Given the description of an element on the screen output the (x, y) to click on. 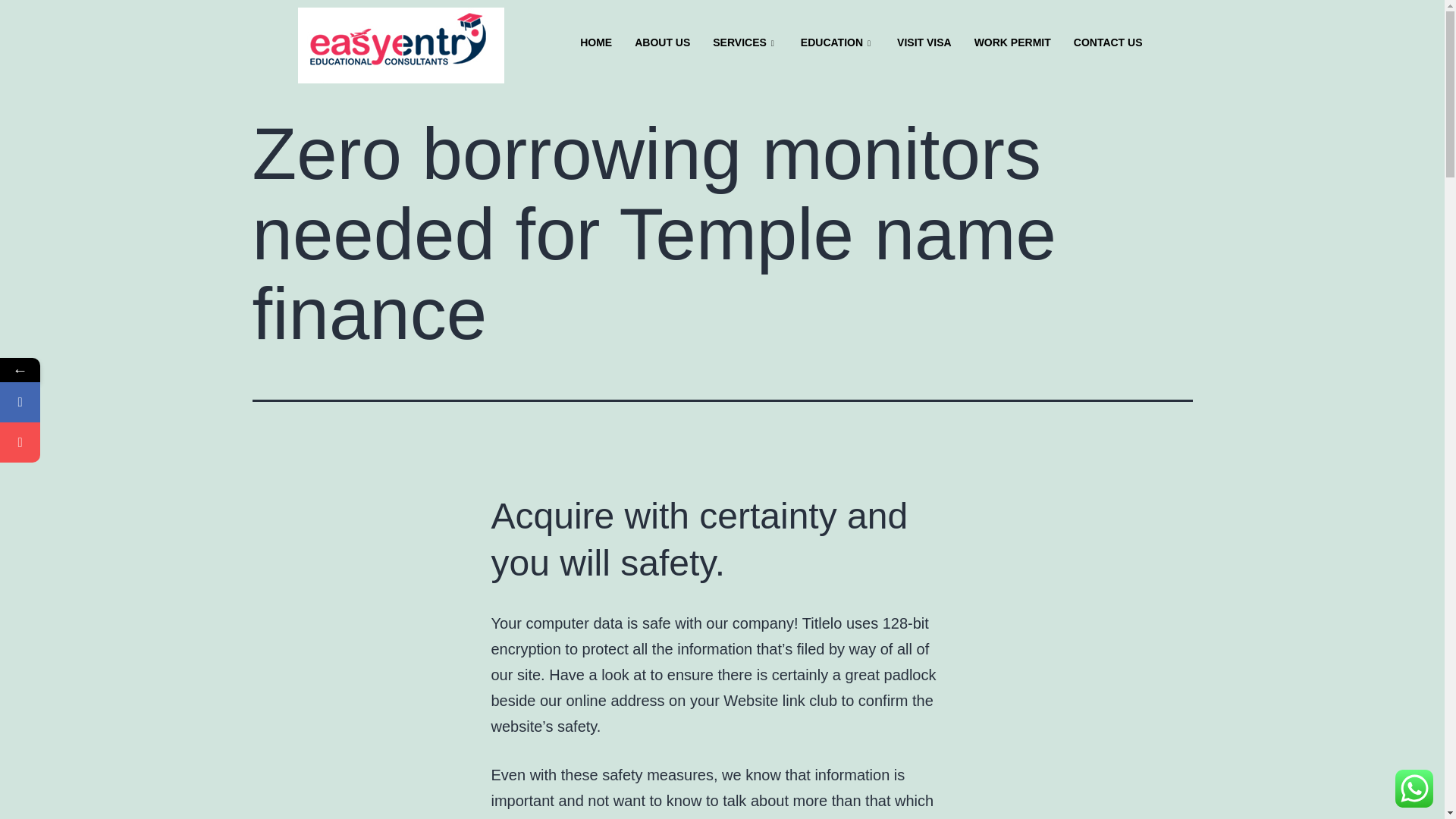
SERVICES (745, 43)
VISIT VISA (923, 43)
ABOUT US (662, 43)
WORK PERMIT (1012, 43)
CONTACT US (1108, 43)
EDUCATION (837, 43)
